Given the description of an element on the screen output the (x, y) to click on. 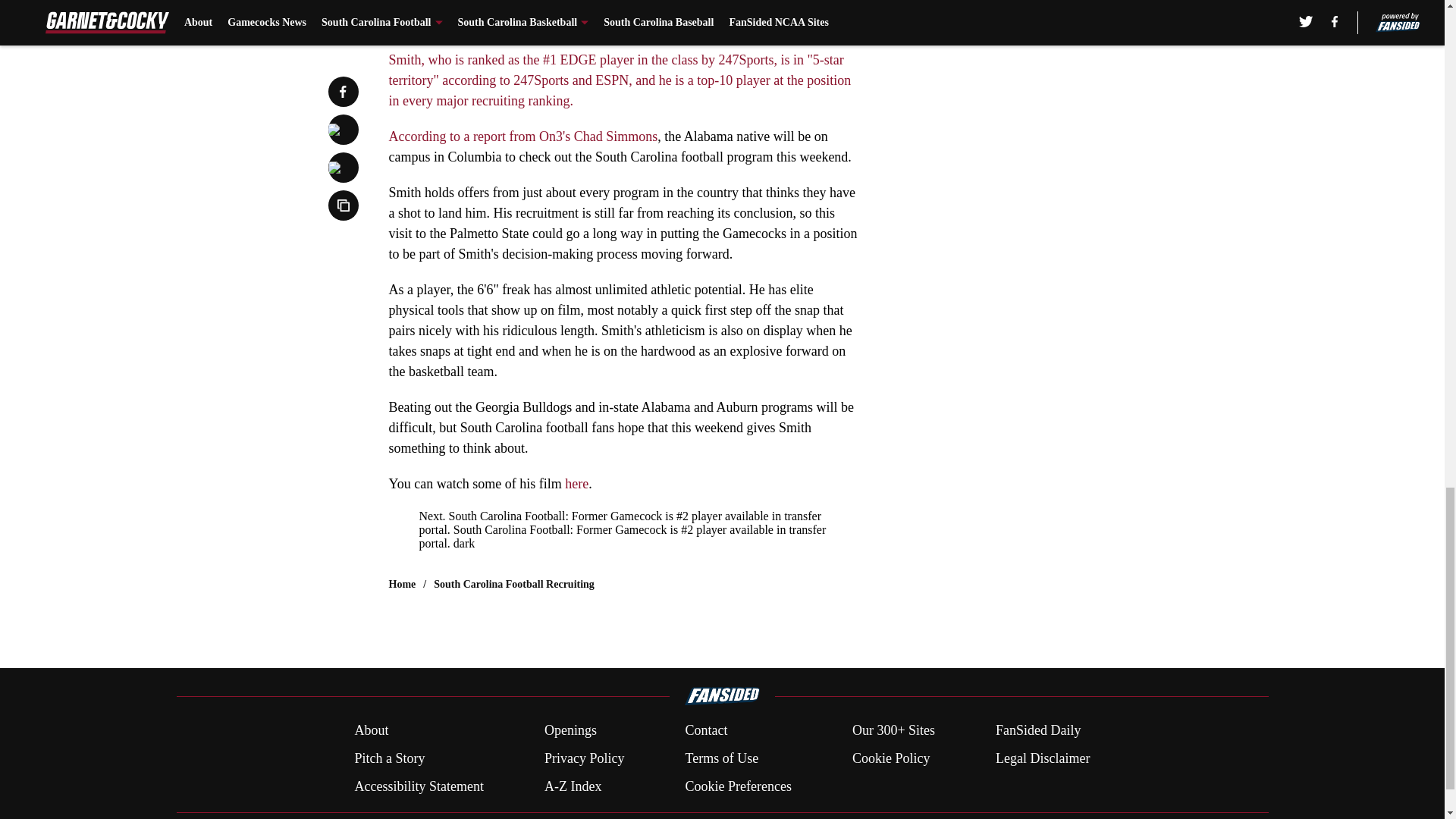
Privacy Policy (584, 758)
FanSided Daily (1038, 730)
About (370, 730)
here (576, 483)
Cookie Policy (890, 758)
Accessibility Statement (418, 786)
Cookie Preferences (737, 786)
South Carolina Football Recruiting (513, 584)
Openings (570, 730)
According to a report from On3's Chad Simmons (523, 136)
